Given the description of an element on the screen output the (x, y) to click on. 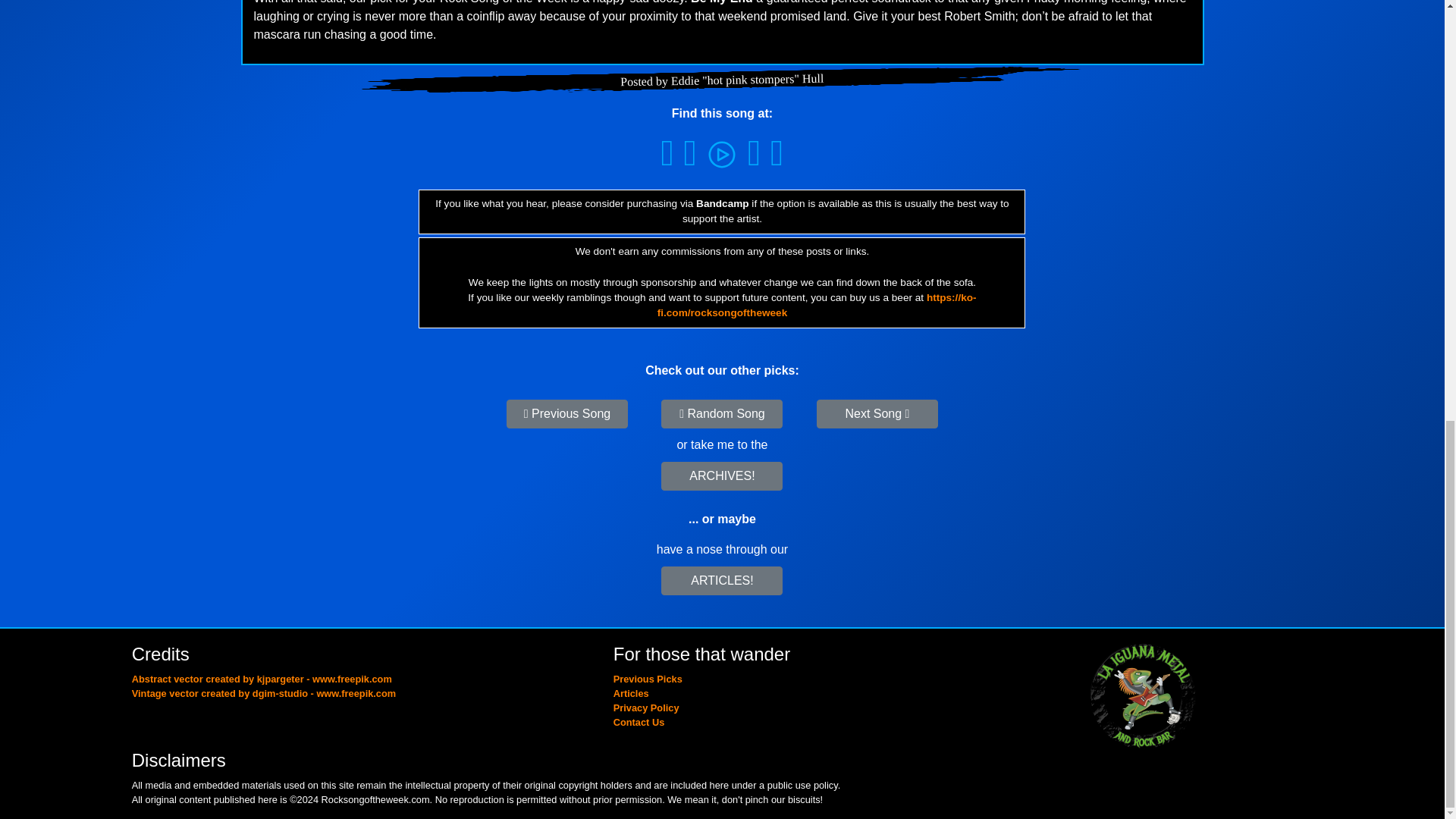
Vintage vector created by dgim-studio - www.freepik.com (264, 693)
Privacy Policy (645, 707)
ARCHIVES! (722, 475)
Contact Us (638, 722)
ARTICLES! (722, 580)
Abstract vector created by kjpargeter - www.freepik.com (261, 678)
Random Song (722, 413)
Previous Song (566, 413)
Previous Picks (647, 678)
Articles (630, 693)
Next Song (876, 413)
